Given the description of an element on the screen output the (x, y) to click on. 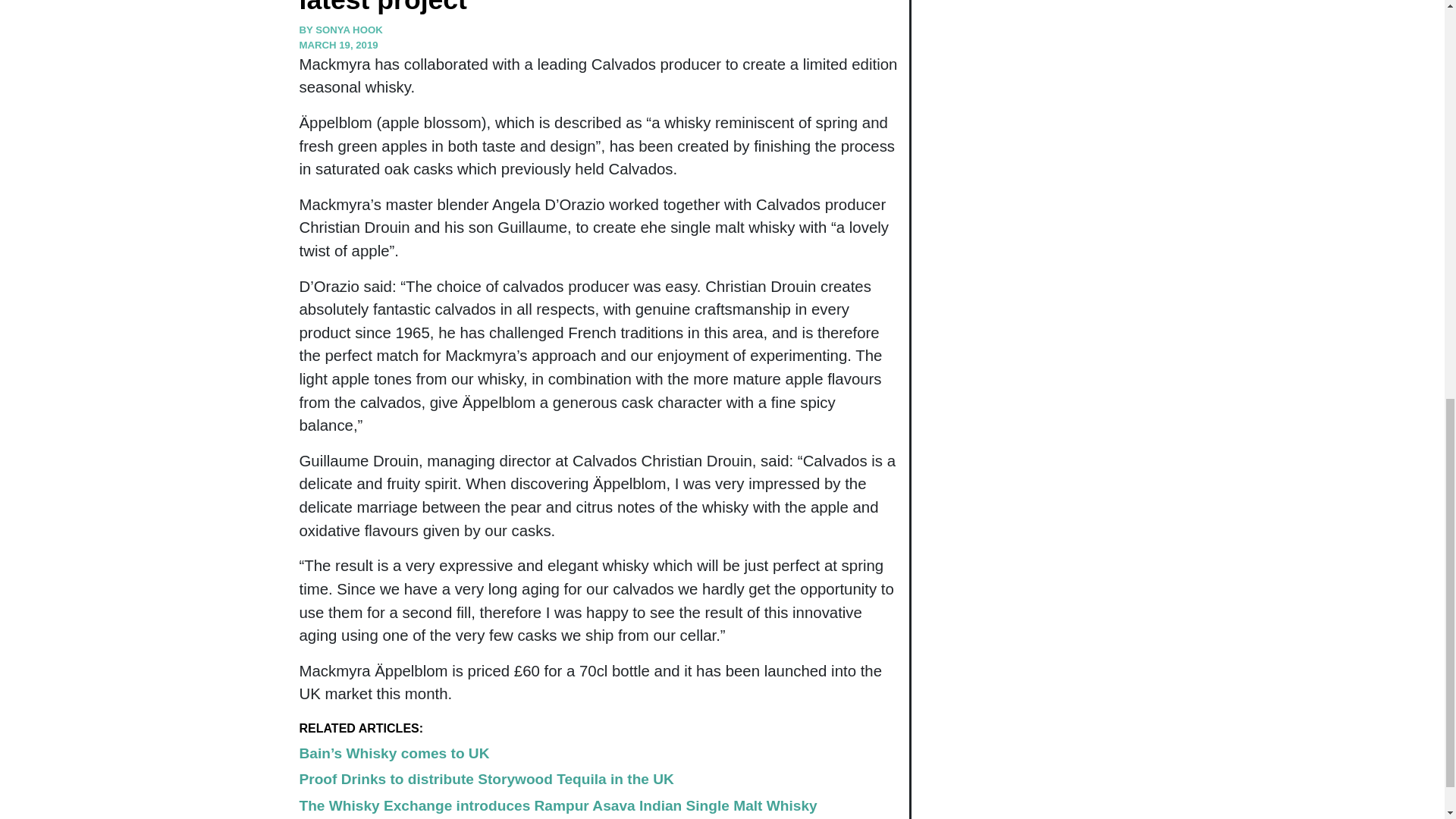
Proof Drinks to distribute Storywood Tequila in the UK (485, 779)
Proof Drinks to distribute Storywood Tequila in the UK (485, 779)
